Given the description of an element on the screen output the (x, y) to click on. 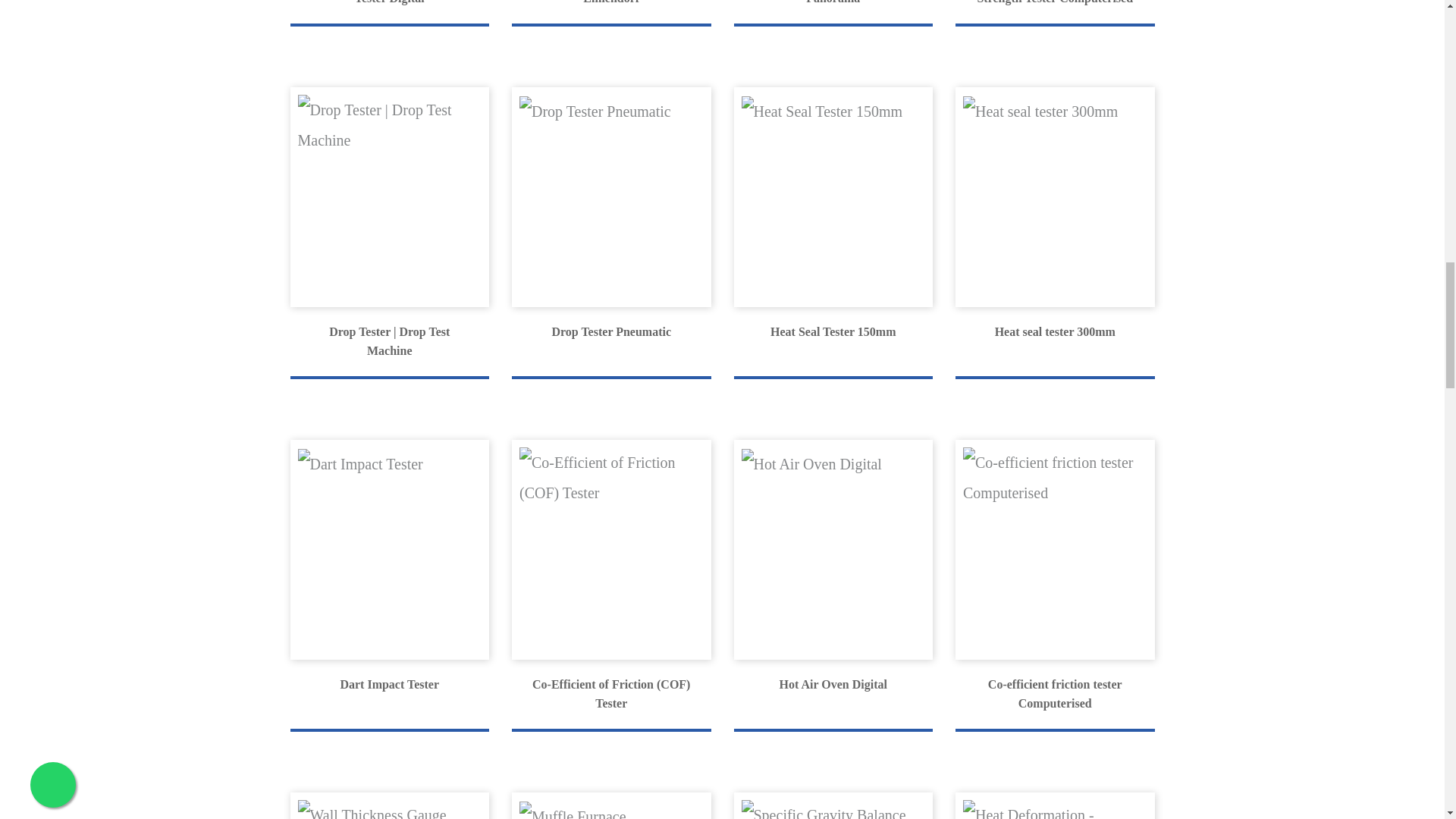
Tearing strength tester Panorama (833, 13)
Peel Adhesion Bond Seal Strength Tester Computerised (1054, 13)
Tearing Strength Tester - Elmendorf (611, 13)
